Given the description of an element on the screen output the (x, y) to click on. 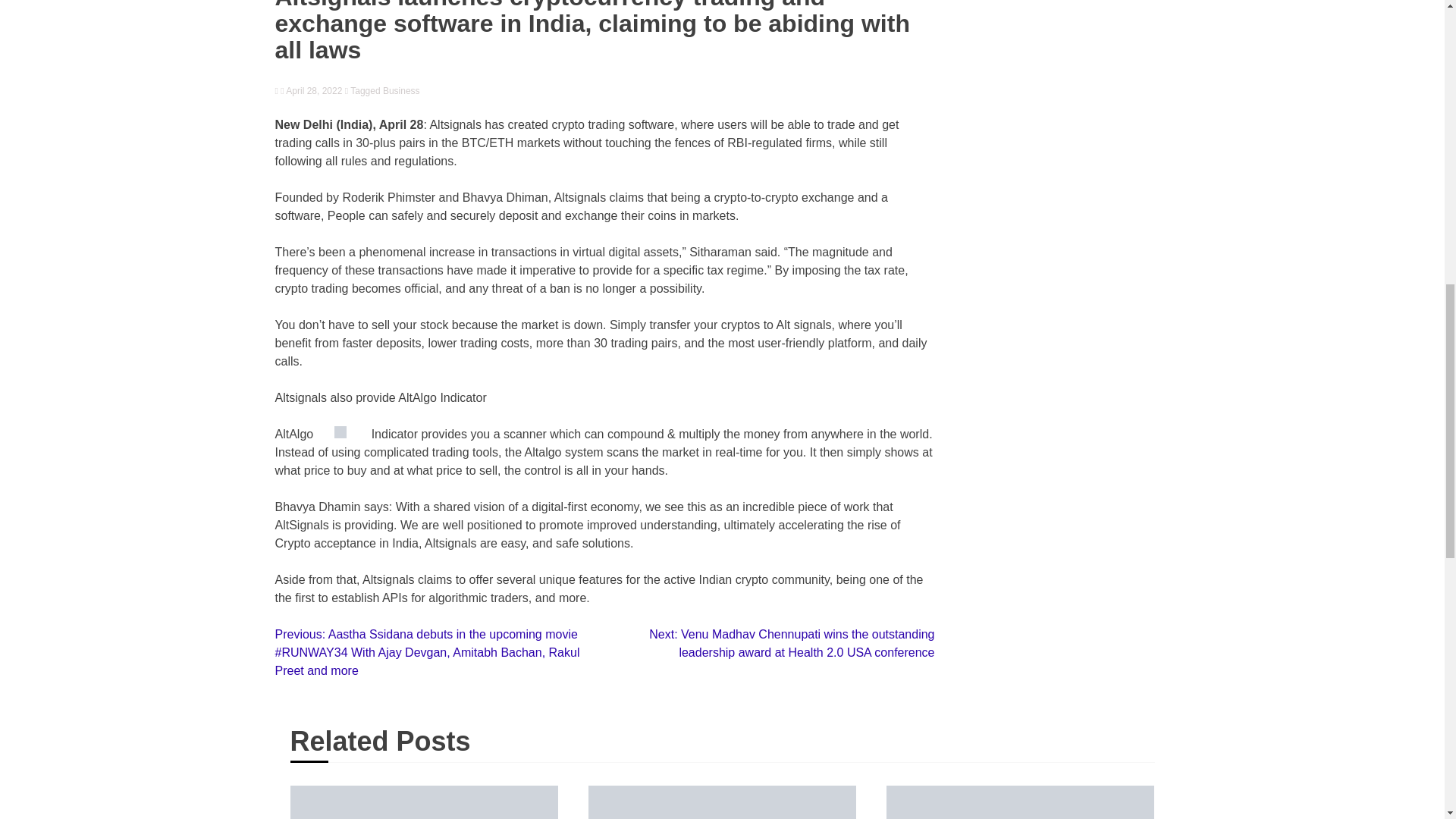
April 28, 2022 (311, 90)
Business (401, 90)
